Given the description of an element on the screen output the (x, y) to click on. 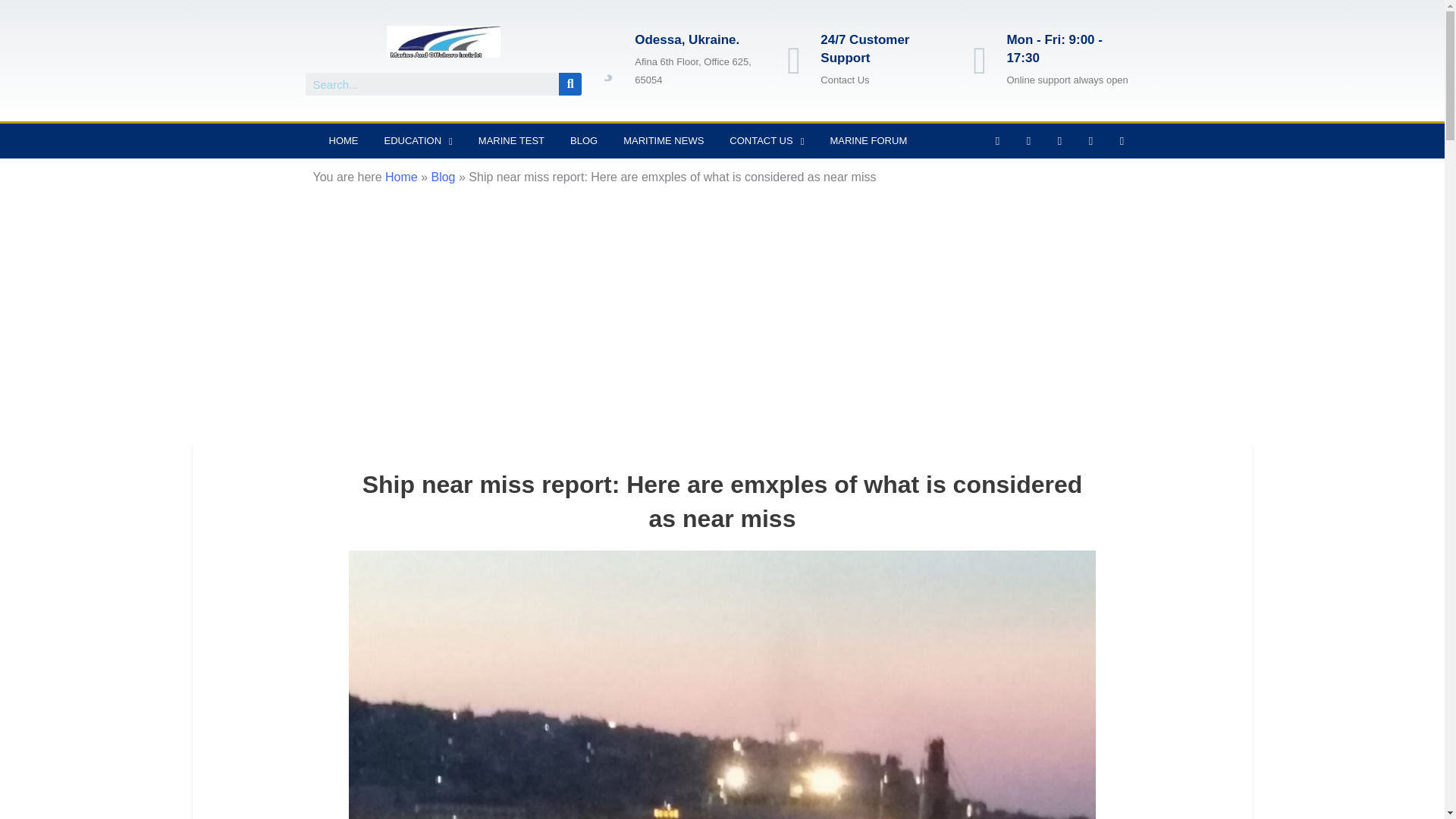
Twitter (1027, 140)
MARINE FORUM (868, 140)
MARITIME NEWS (662, 140)
Home (401, 176)
Search (569, 83)
EDUCATION (418, 140)
Search (431, 83)
Facebook-f (997, 140)
Instagram (1059, 140)
Search (569, 83)
HOME (342, 140)
CONTACT US (766, 140)
Youtube (1090, 140)
BLOG (584, 140)
